Given the description of an element on the screen output the (x, y) to click on. 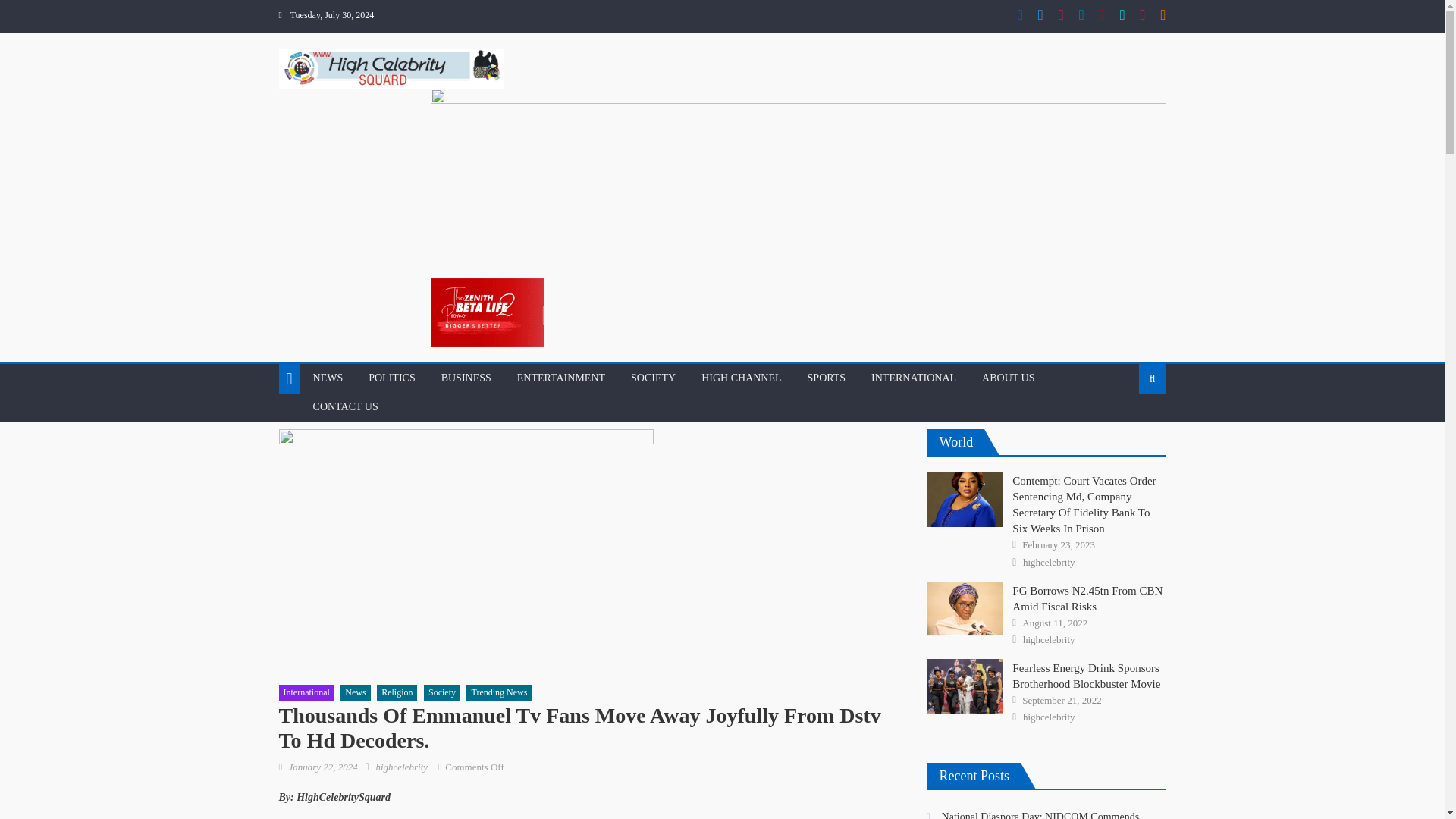
HIGH CHANNEL (741, 378)
Fearless Energy Drink Sponsors Brotherhood Blockbuster Movie (964, 686)
Trending News (498, 692)
News (354, 692)
SOCIETY (653, 378)
Society (441, 692)
NEWS (328, 378)
SPORTS (826, 378)
ENTERTAINMENT (560, 378)
FG Borrows N2.45tn From CBN Amid Fiscal Risks (964, 608)
CONTACT US (345, 407)
BUSINESS (465, 378)
Religion (396, 692)
ABOUT US (1008, 378)
